Given the description of an element on the screen output the (x, y) to click on. 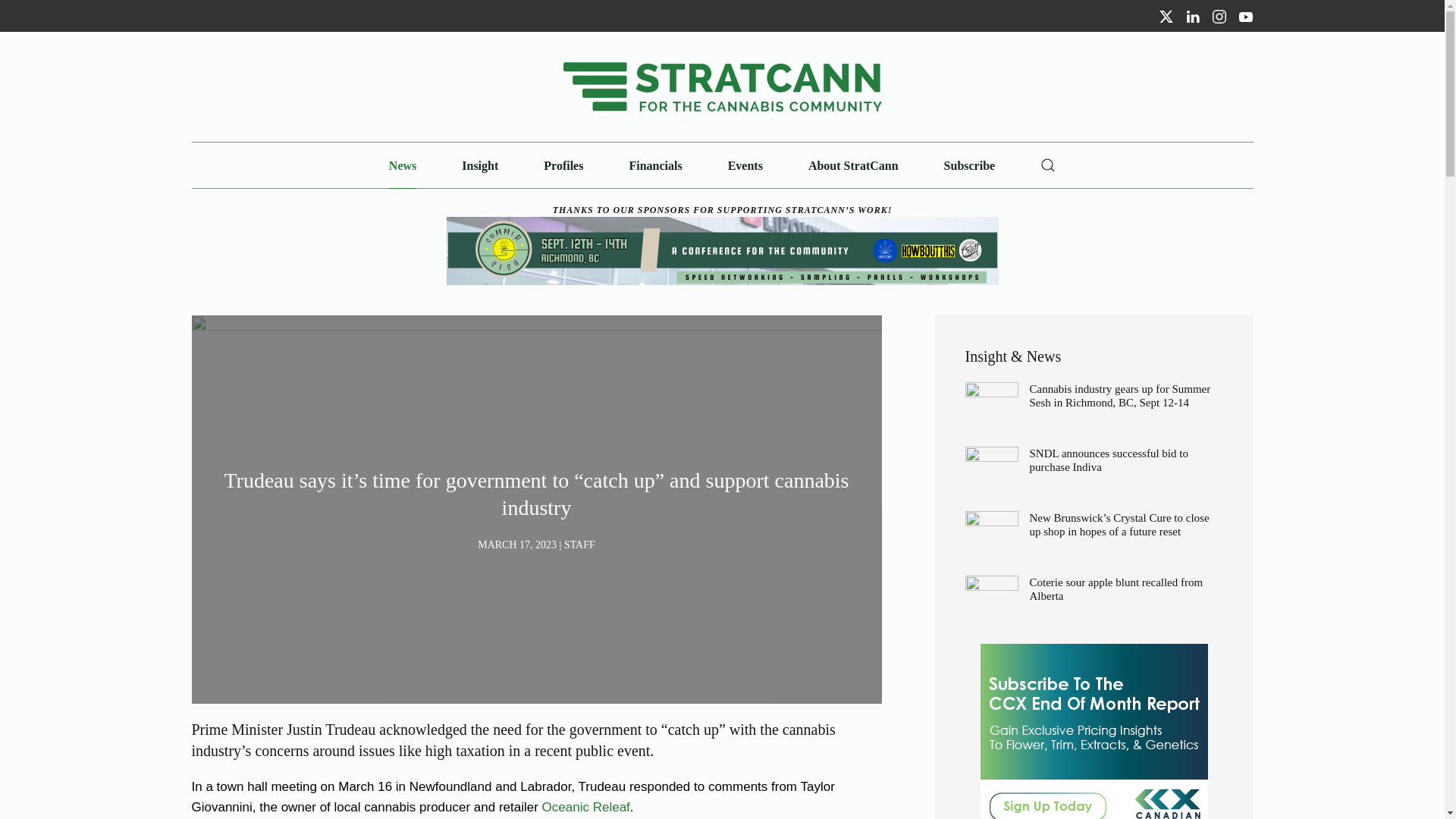
Subscribe (969, 165)
Financials (654, 165)
About StratCann (853, 165)
